Given the description of an element on the screen output the (x, y) to click on. 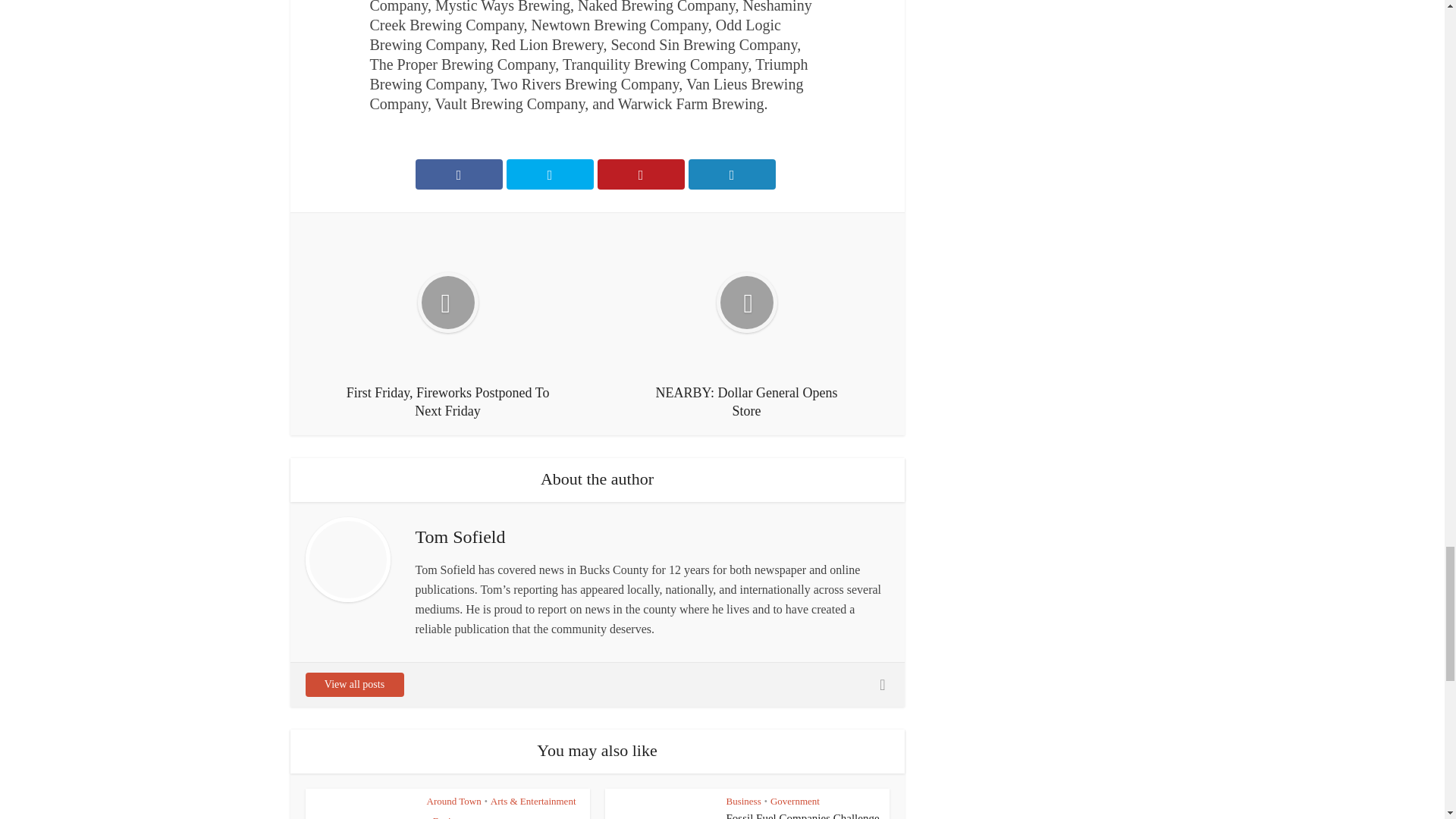
Business (449, 816)
Around Town (453, 800)
NEARBY: Dollar General Opens Store (746, 324)
View all posts (353, 684)
Business (743, 800)
Fossil Fuel Companies Challenge Bucks County Lawsuit (802, 815)
Government (794, 800)
First Friday, Fireworks Postponed To Next Friday (447, 324)
